Given the description of an element on the screen output the (x, y) to click on. 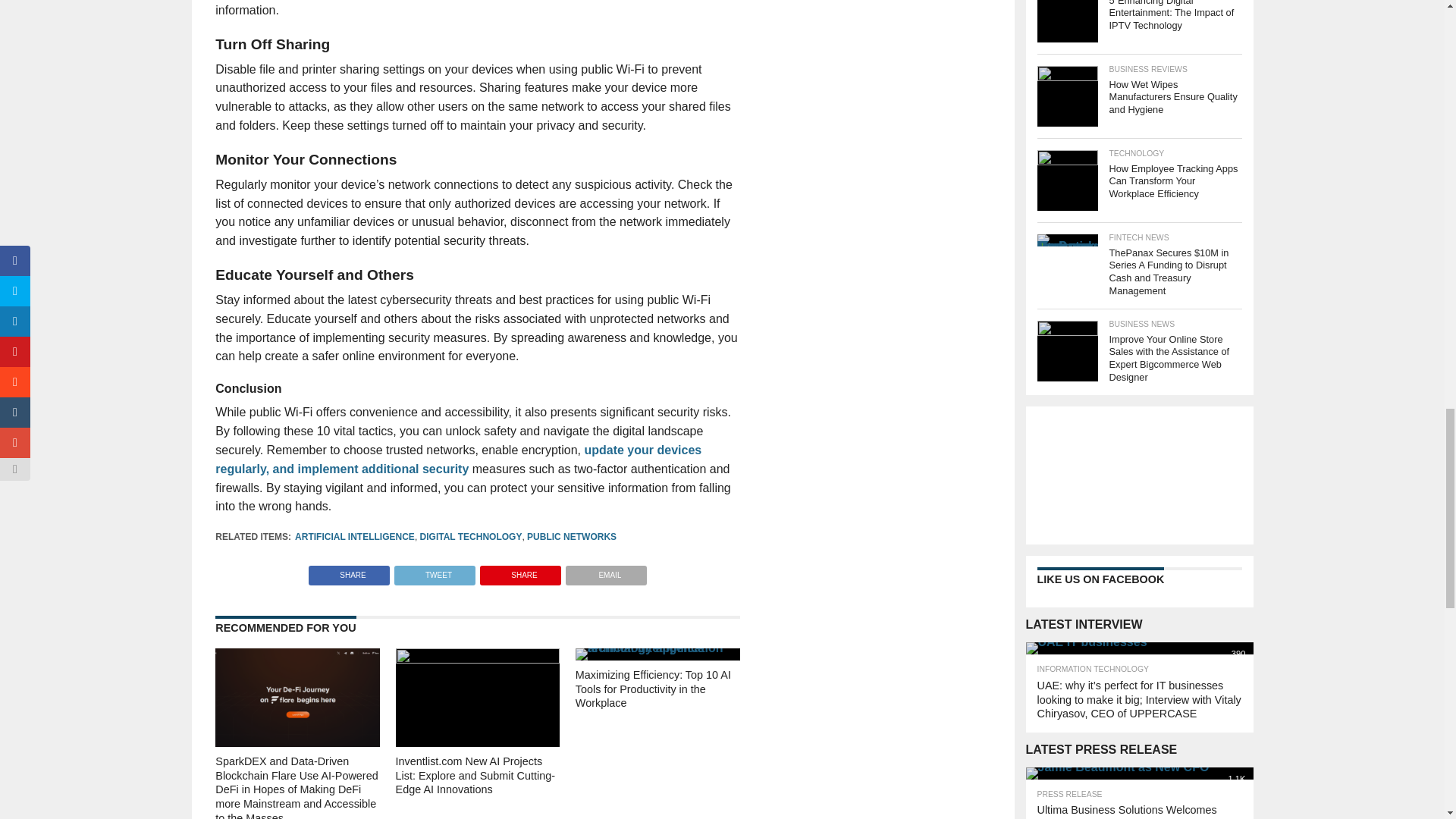
Share on Facebook (349, 571)
Tweet This Post (434, 571)
Pin This Post (520, 571)
